Given the description of an element on the screen output the (x, y) to click on. 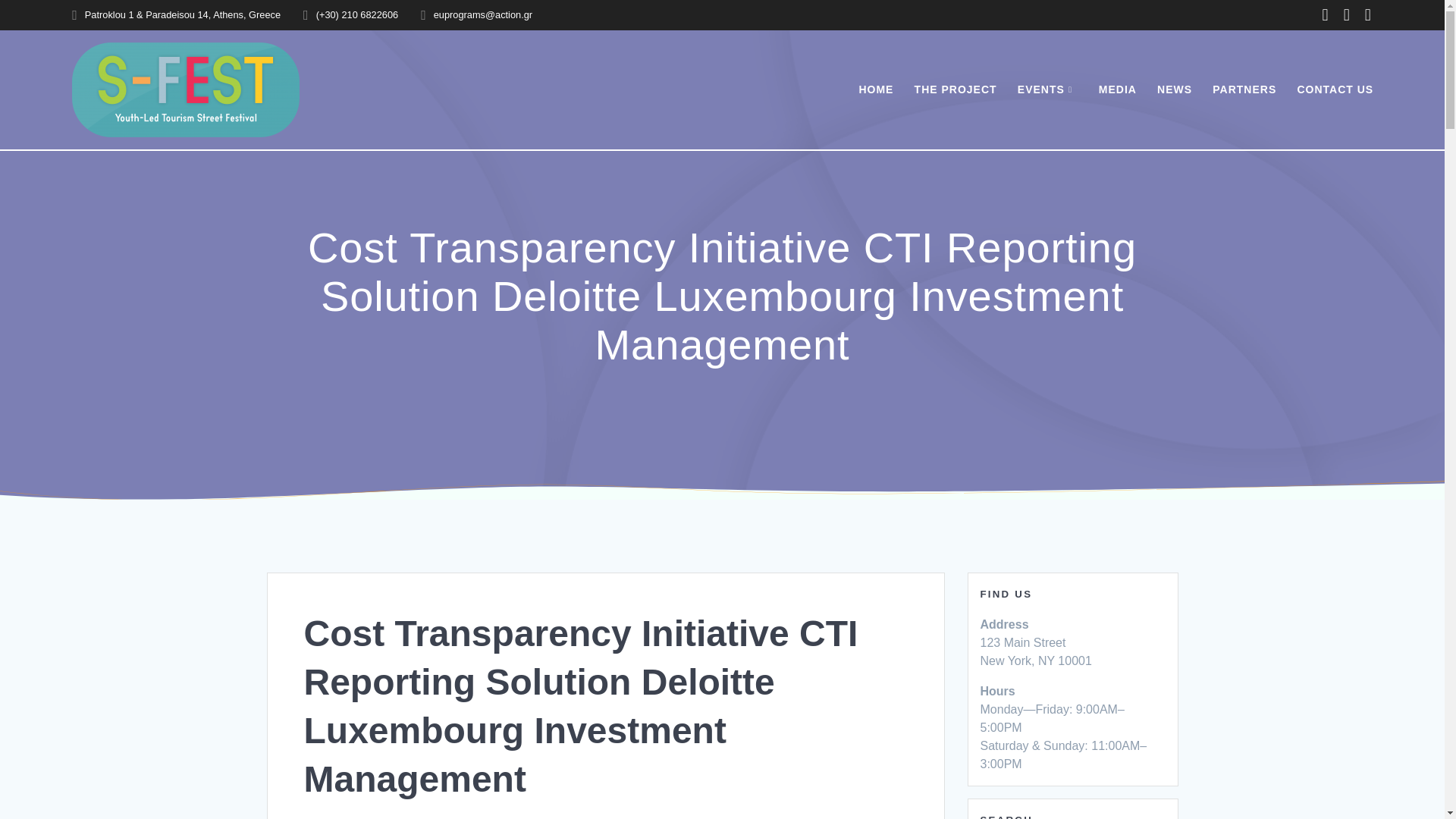
HOME (876, 89)
MEDIA (1118, 89)
NEWS (1174, 89)
THE PROJECT (955, 89)
CONTACT US (1335, 89)
EVENTS (1047, 89)
PARTNERS (1244, 89)
